Given the description of an element on the screen output the (x, y) to click on. 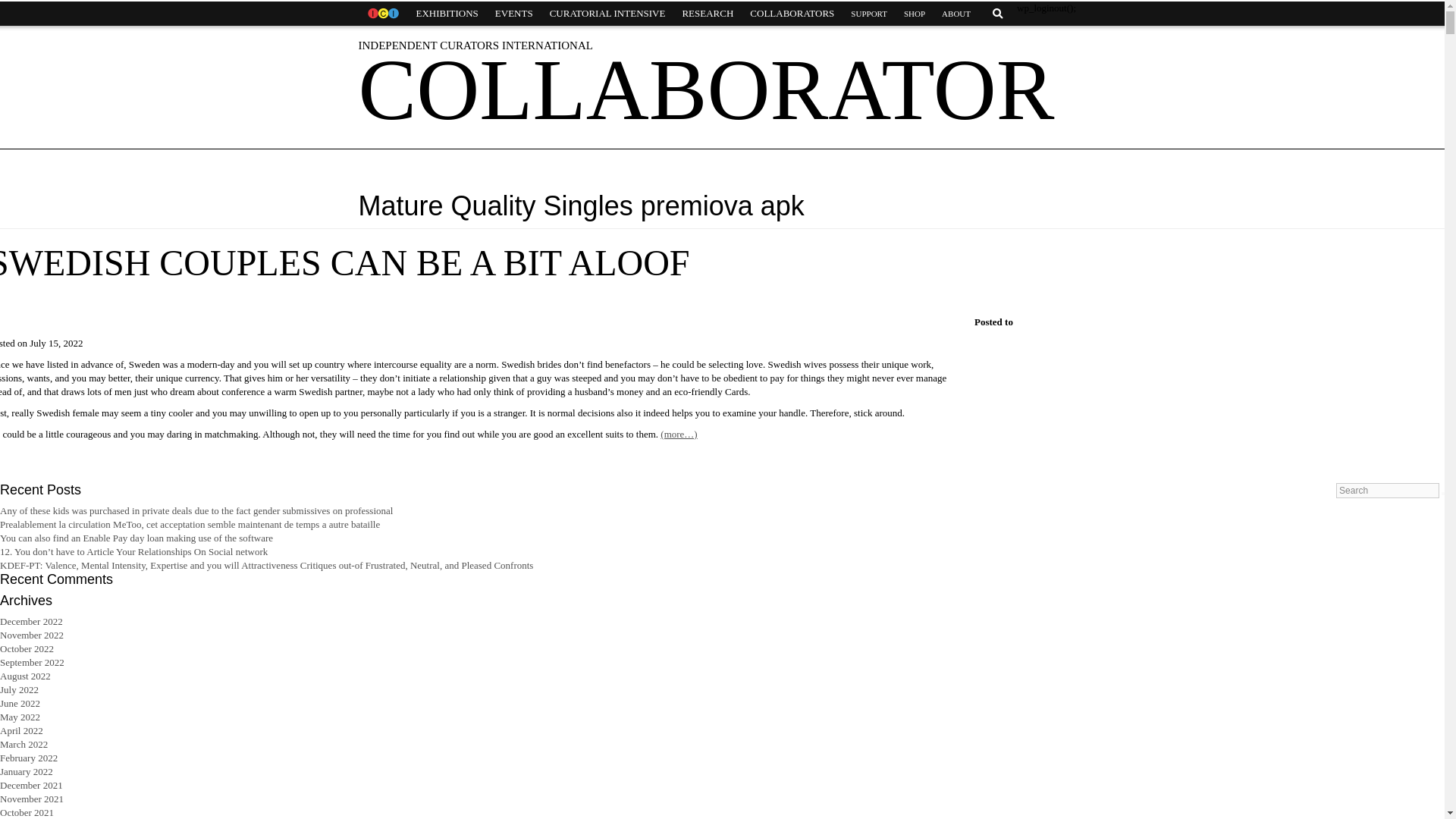
HOME (382, 13)
COLLABORATORS (792, 13)
RESEARCH (706, 13)
EXHIBITIONS (446, 13)
EVENTS (513, 13)
CURATORIAL INTENSIVE (607, 13)
